Given the description of an element on the screen output the (x, y) to click on. 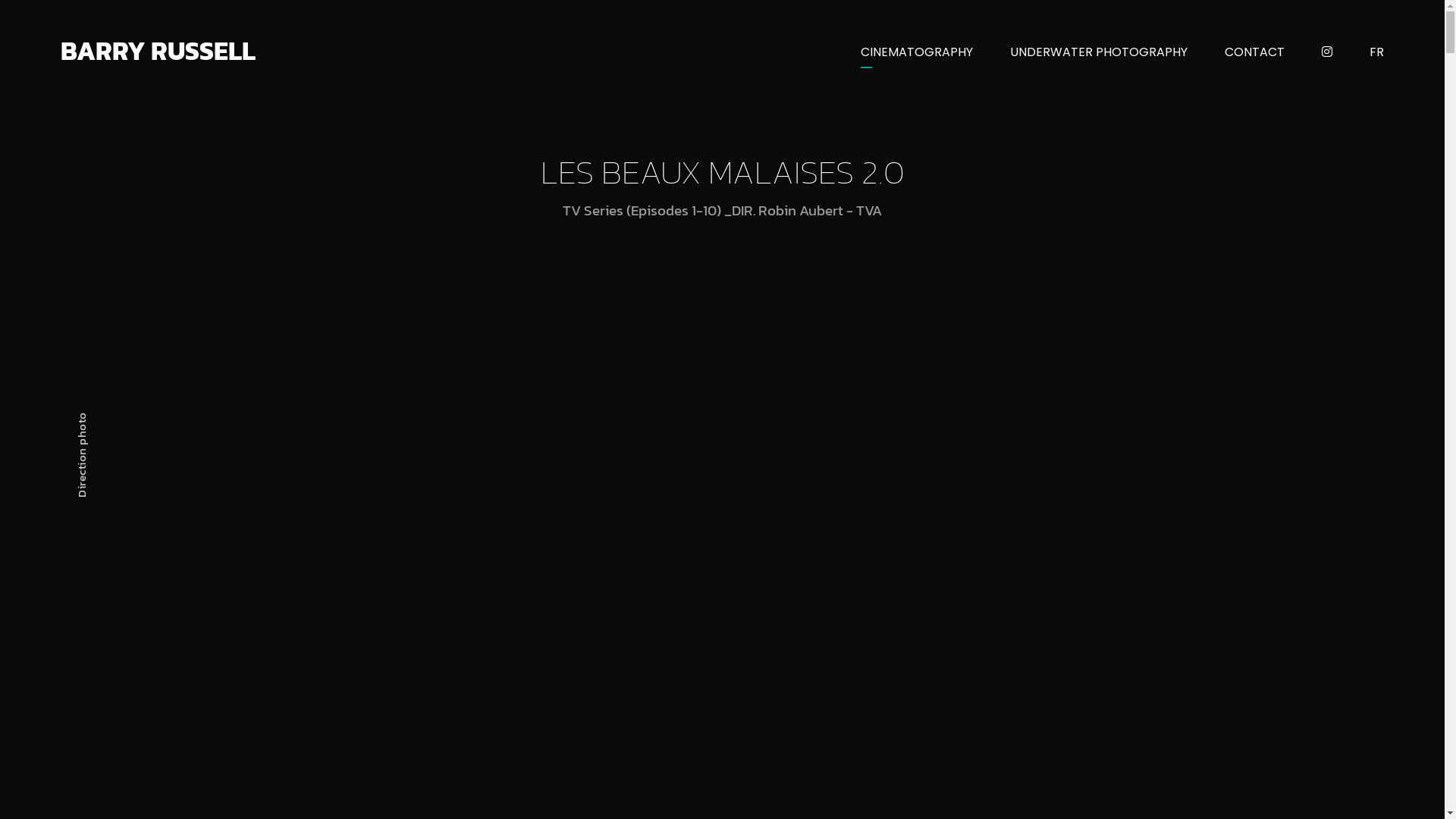
CONTACT Element type: text (1254, 50)
BARRY RUSSELL Element type: text (157, 50)
Les beaux malaises 2.0 showreel Element type: hover (722, 539)
UNDERWATER PHOTOGRAPHY Element type: text (1098, 50)
FR Element type: text (1376, 50)
CINEMATOGRAPHY Element type: text (916, 50)
